Given the description of an element on the screen output the (x, y) to click on. 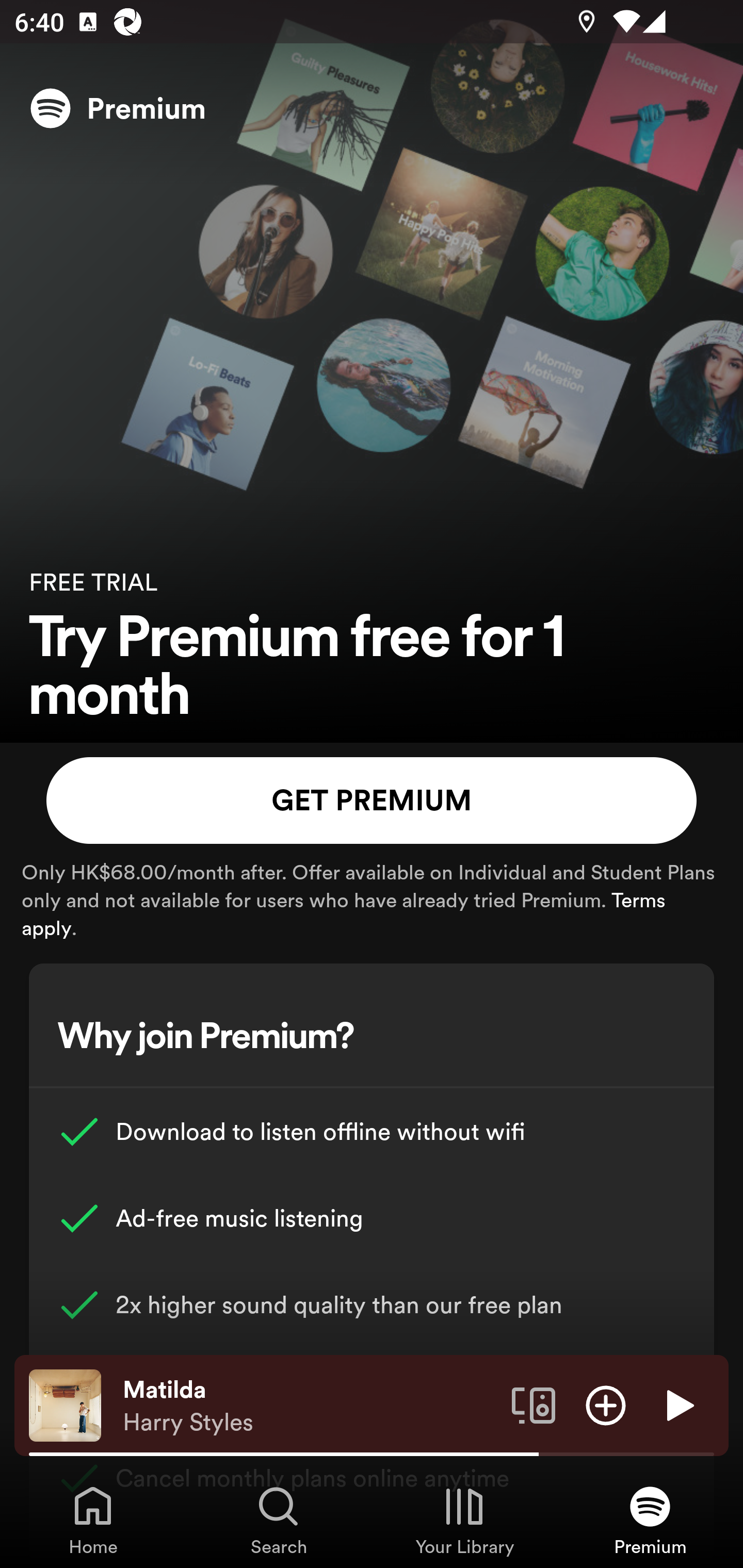
GET PREMIUM (371, 800)
Matilda Harry Styles (309, 1405)
The cover art of the currently playing track (64, 1404)
Connect to a device. Opens the devices menu (533, 1404)
Add item (605, 1404)
Play (677, 1404)
Home, Tab 1 of 4 Home Home (92, 1519)
Search, Tab 2 of 4 Search Search (278, 1519)
Your Library, Tab 3 of 4 Your Library Your Library (464, 1519)
Premium, Tab 4 of 4 Premium Premium (650, 1519)
